Given the description of an element on the screen output the (x, y) to click on. 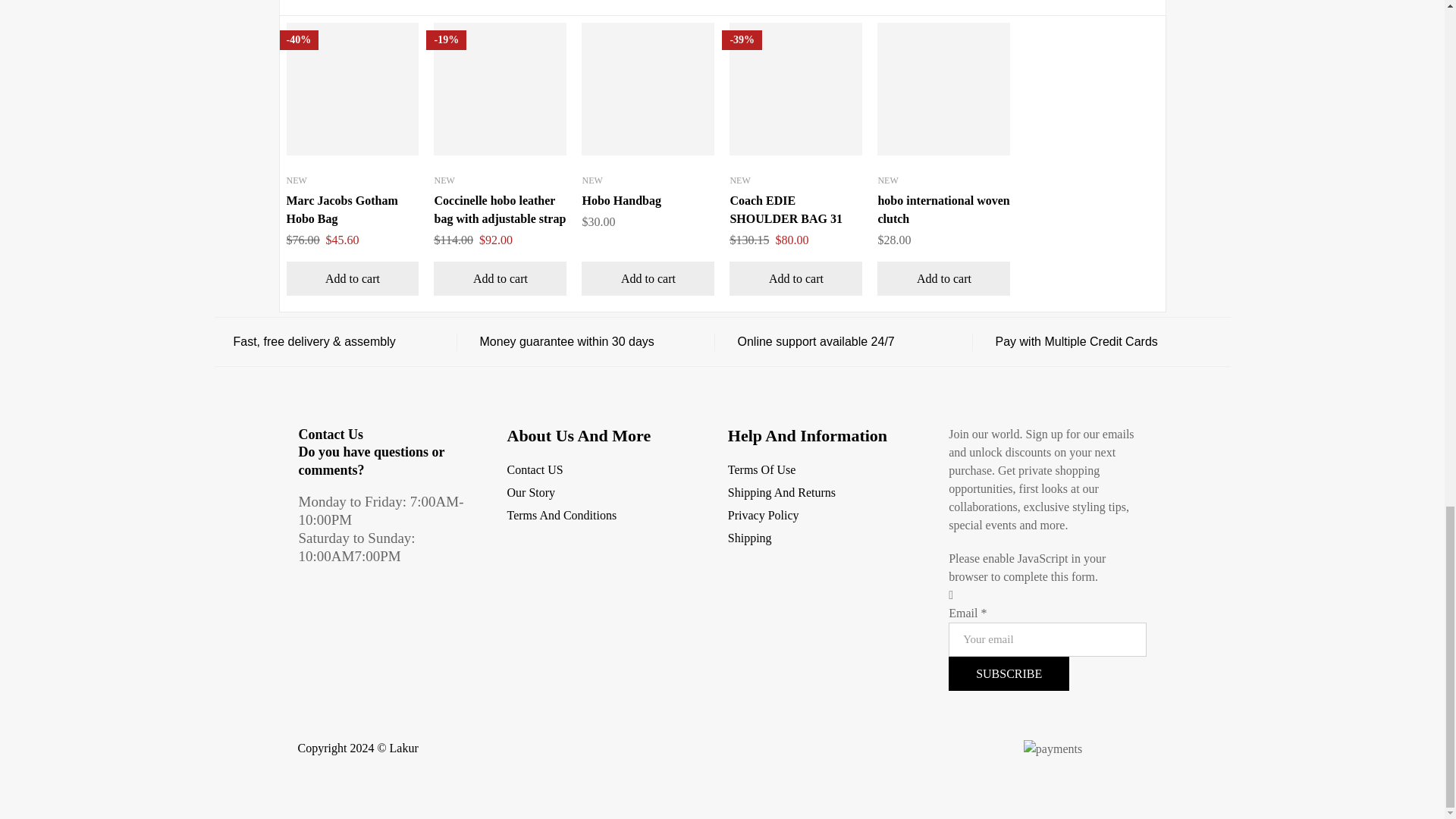
Hobo Handbag (620, 200)
Coccinelle hobo leather bag with adjustable strap (499, 209)
Add to cart (499, 278)
Marc Jacobs Gotham Hobo Bag (341, 209)
NEW (443, 180)
Add to cart (352, 278)
NEW (296, 180)
NEW (591, 180)
